Given the description of an element on the screen output the (x, y) to click on. 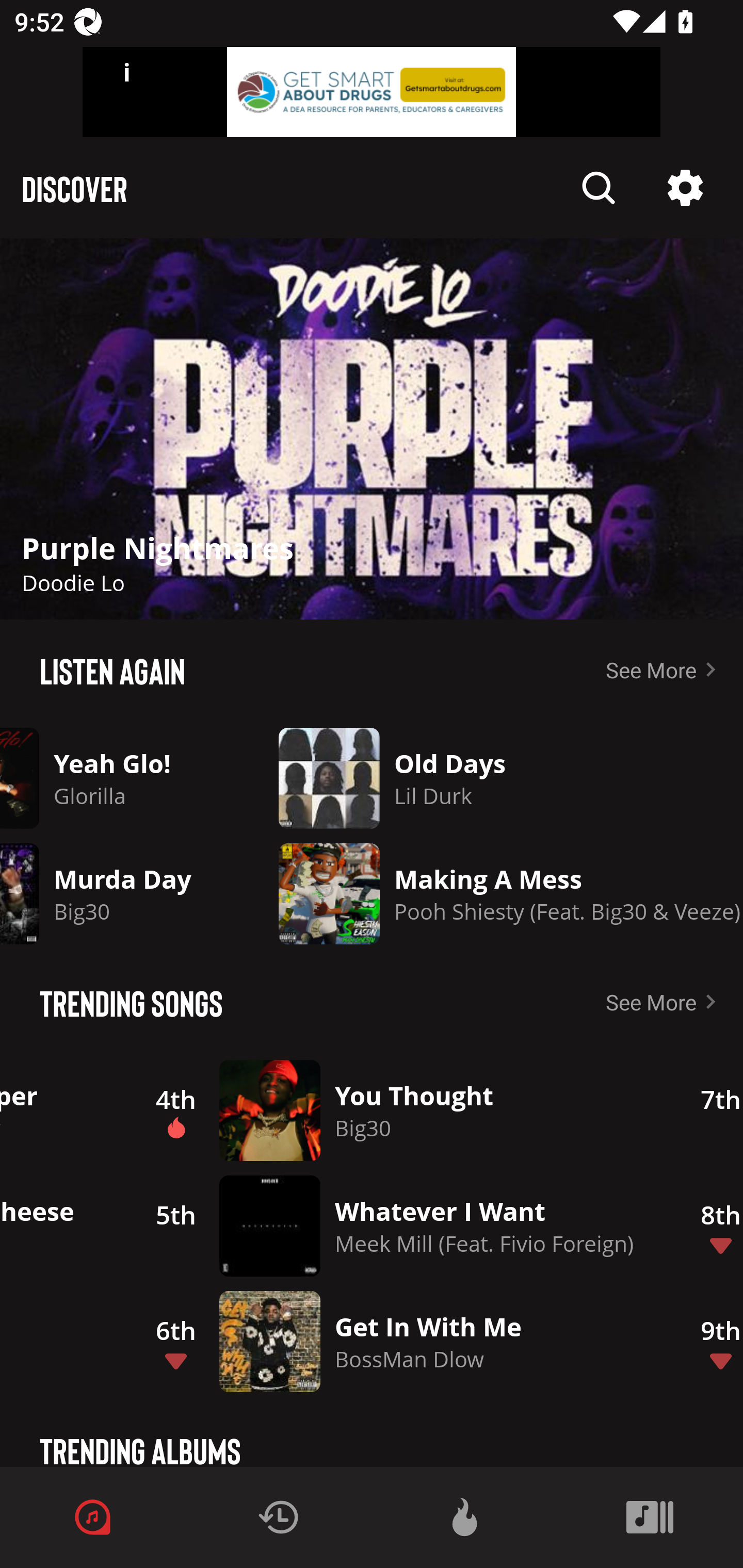
Description (598, 188)
Description (684, 188)
Description (371, 428)
See More (664, 669)
Description Yeah Glo! Glorilla (117, 778)
Description Old Days Lil Durk (496, 778)
Description Murda Day Big30 (117, 893)
See More (664, 1001)
4th Description Description You Thought Big30 (397, 1110)
7th (710, 1110)
8th Description (710, 1226)
9th Description (710, 1341)
